Given the description of an element on the screen output the (x, y) to click on. 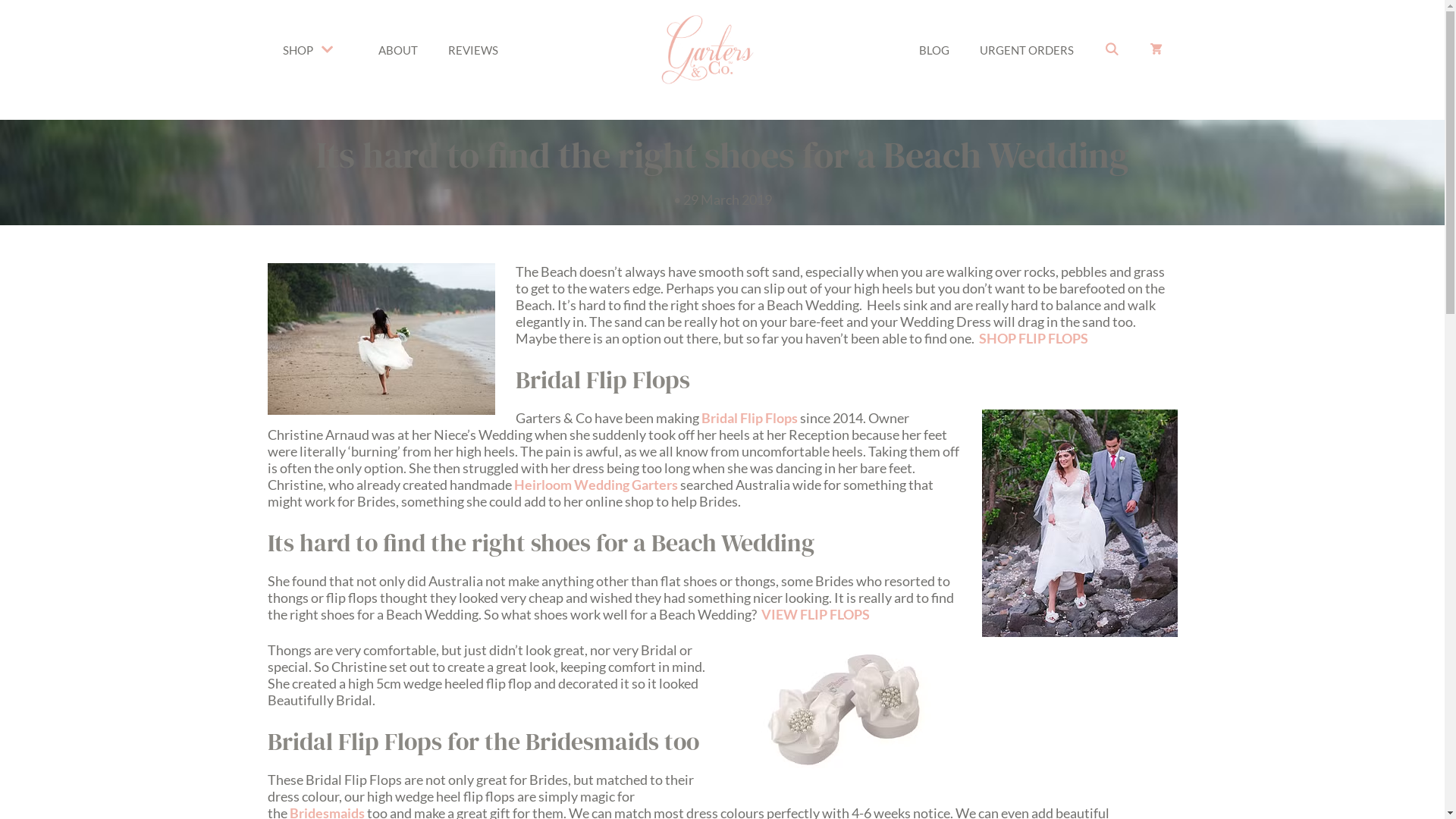
Heirloom Wedding Garters Element type: text (595, 484)
BLOG Element type: text (933, 49)
REVIEWS Element type: text (472, 49)
Garters & Co. Element type: hover (706, 47)
ABOUT Element type: text (397, 49)
Garters & Co. Element type: hover (706, 49)
Bridal Flip Flops Element type: text (748, 417)
View your shopping cart Element type: hover (1155, 49)
URGENT ORDERS Element type: text (1026, 49)
MENU ITEM SEPARATOR Element type: text (707, 49)
VIEW FLIP FLOPS Element type: text (815, 613)
SHOP FLIP FLOPS Element type: text (1032, 337)
SHOP Element type: text (314, 49)
